Given the description of an element on the screen output the (x, y) to click on. 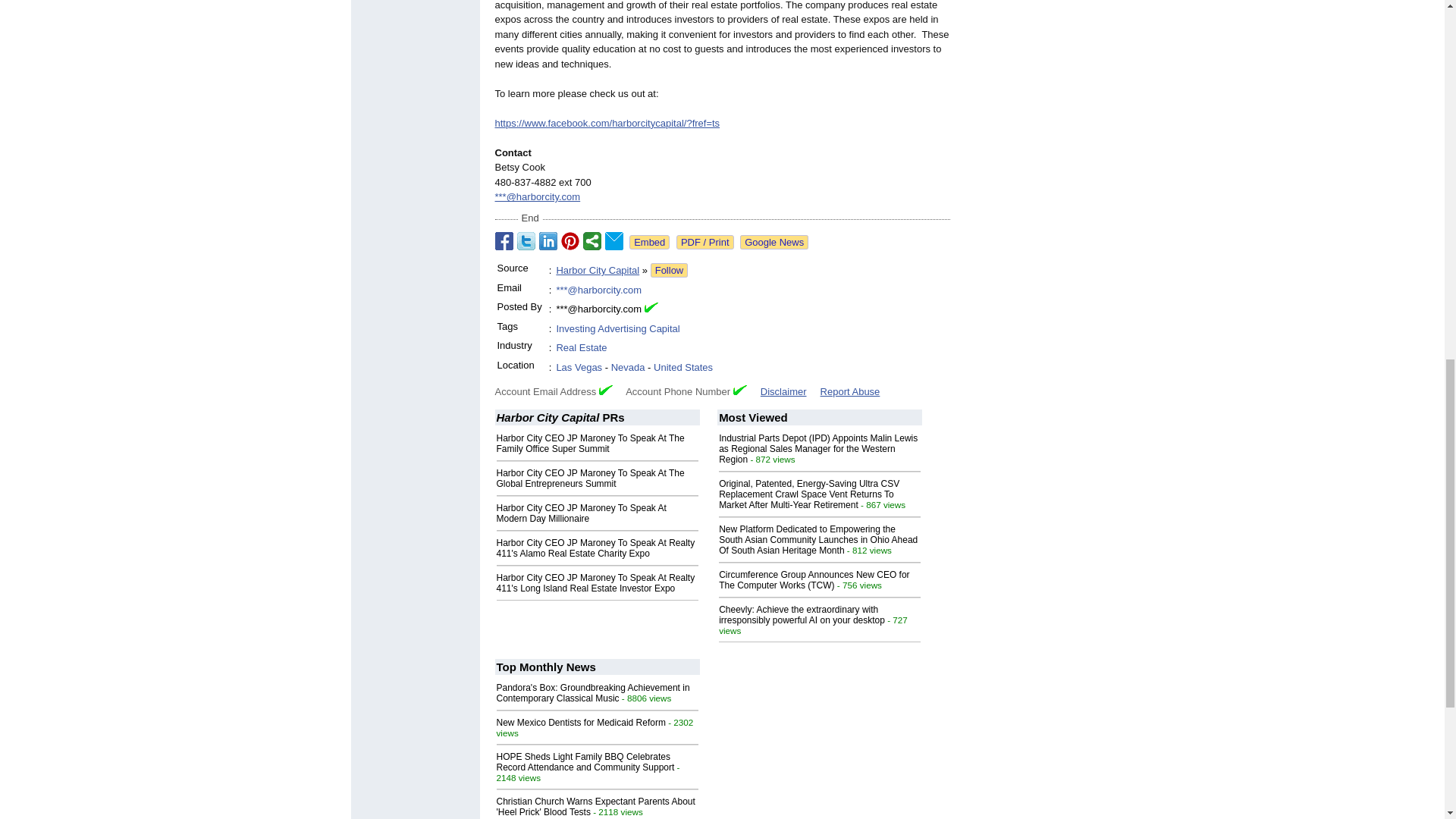
Share on StumbleUpon, Digg, etc (590, 240)
Share on Twitter (525, 240)
Email Verified (651, 307)
Share on LinkedIn (547, 240)
See or print the PDF version! (705, 242)
Embed (648, 242)
Share on Facebook (503, 240)
Verified (605, 389)
Email to a Friend (614, 240)
Verified (739, 389)
Share on Pinterest (569, 240)
Embed this press release in your website! (648, 242)
